Given the description of an element on the screen output the (x, y) to click on. 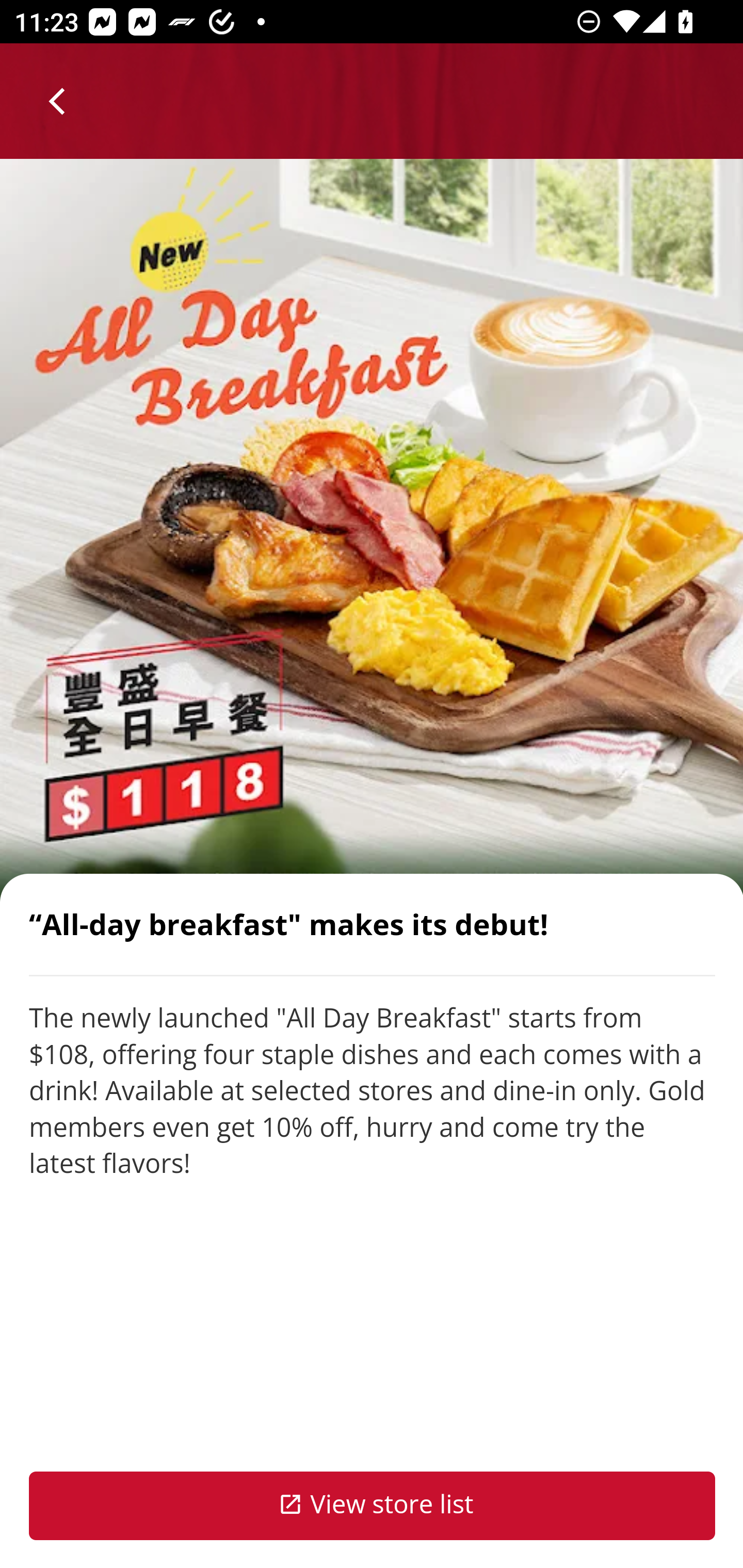
arrow_back_ios (65, 100)
open_in_new View store list (372, 1505)
